Given the description of an element on the screen output the (x, y) to click on. 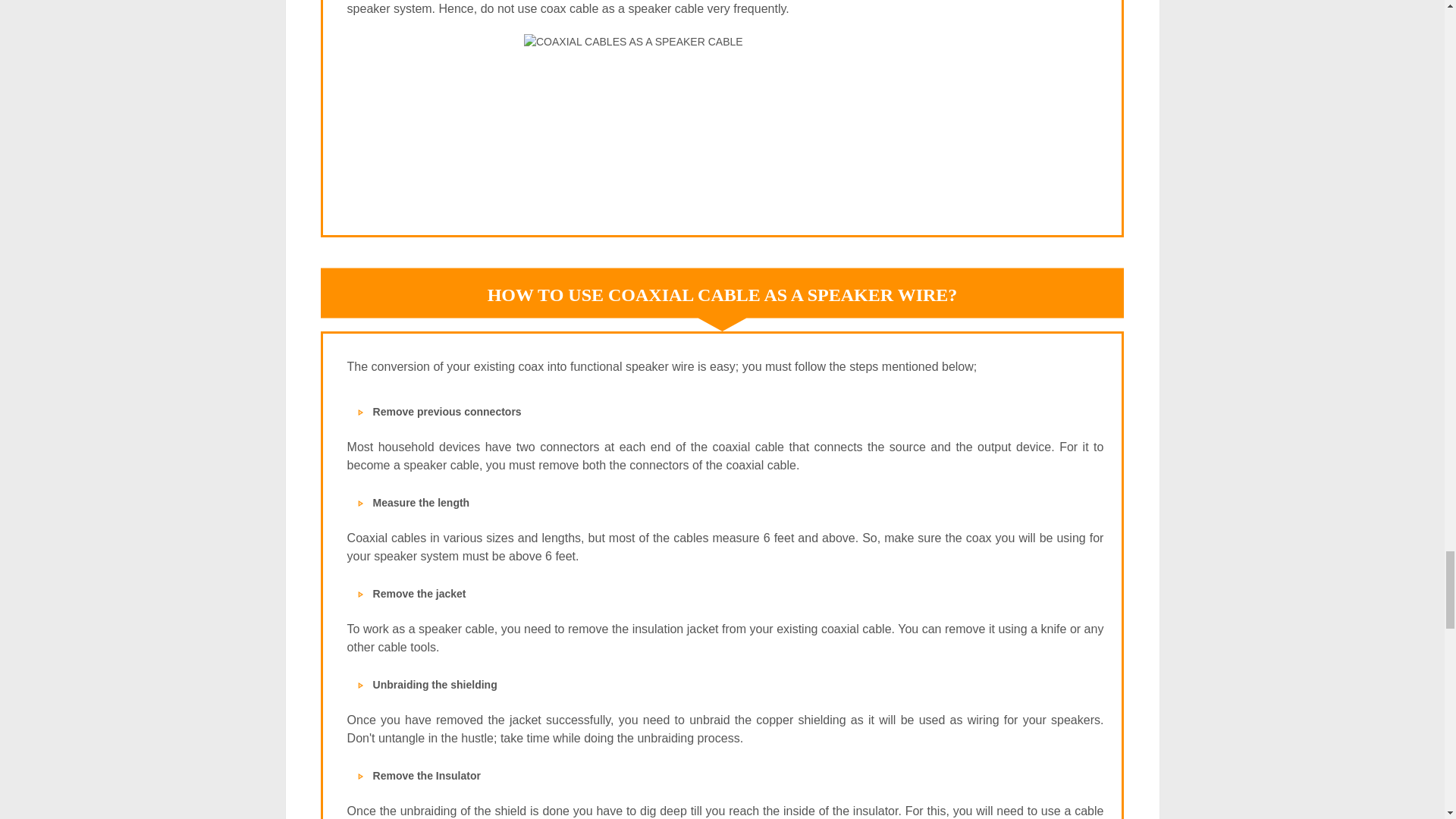
COAXIAL CABLES AS A SPEAKER CABLE (725, 117)
